Given the description of an element on the screen output the (x, y) to click on. 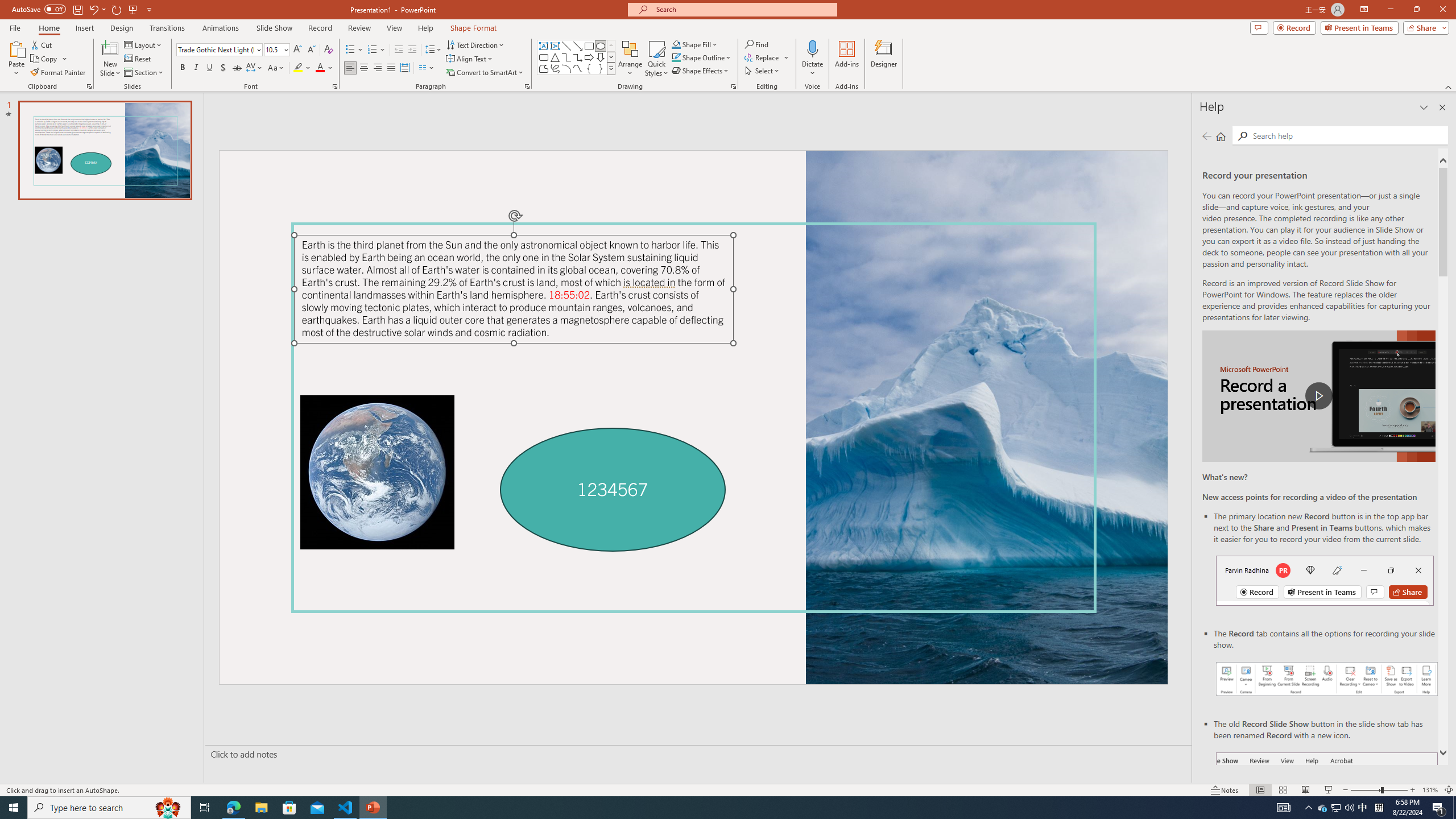
Zoom 131% (1430, 790)
